Given the description of an element on the screen output the (x, y) to click on. 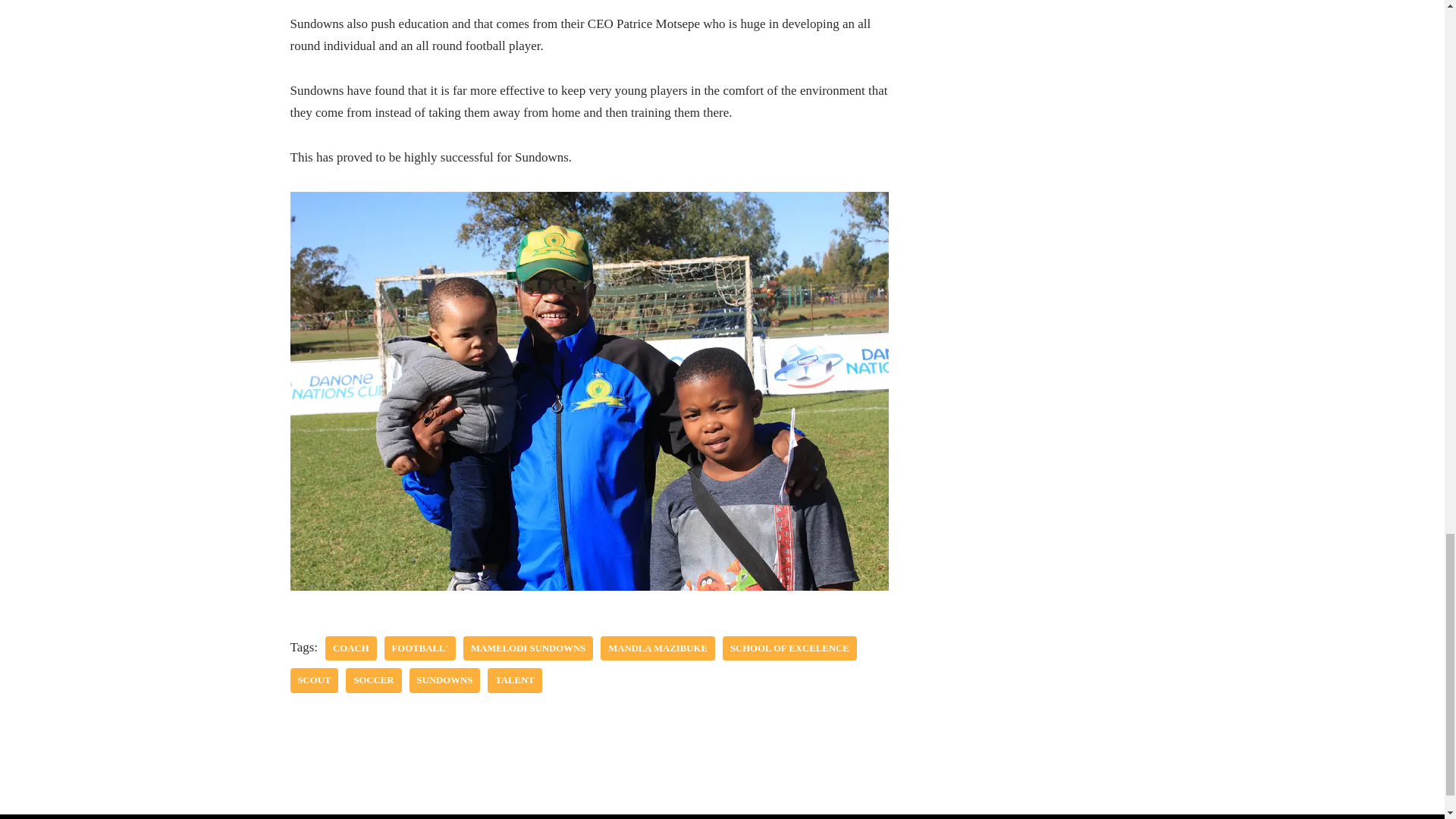
Talent (514, 680)
Football' (419, 648)
Soccer (373, 680)
SCOUT (313, 680)
FOOTBALL' (419, 648)
MANDLA MAZIBUKE (656, 648)
SCHOOL OF EXCELENCE (789, 648)
COACH (349, 648)
Scout (313, 680)
Mamelodi Sundowns (527, 648)
